Given the description of an element on the screen output the (x, y) to click on. 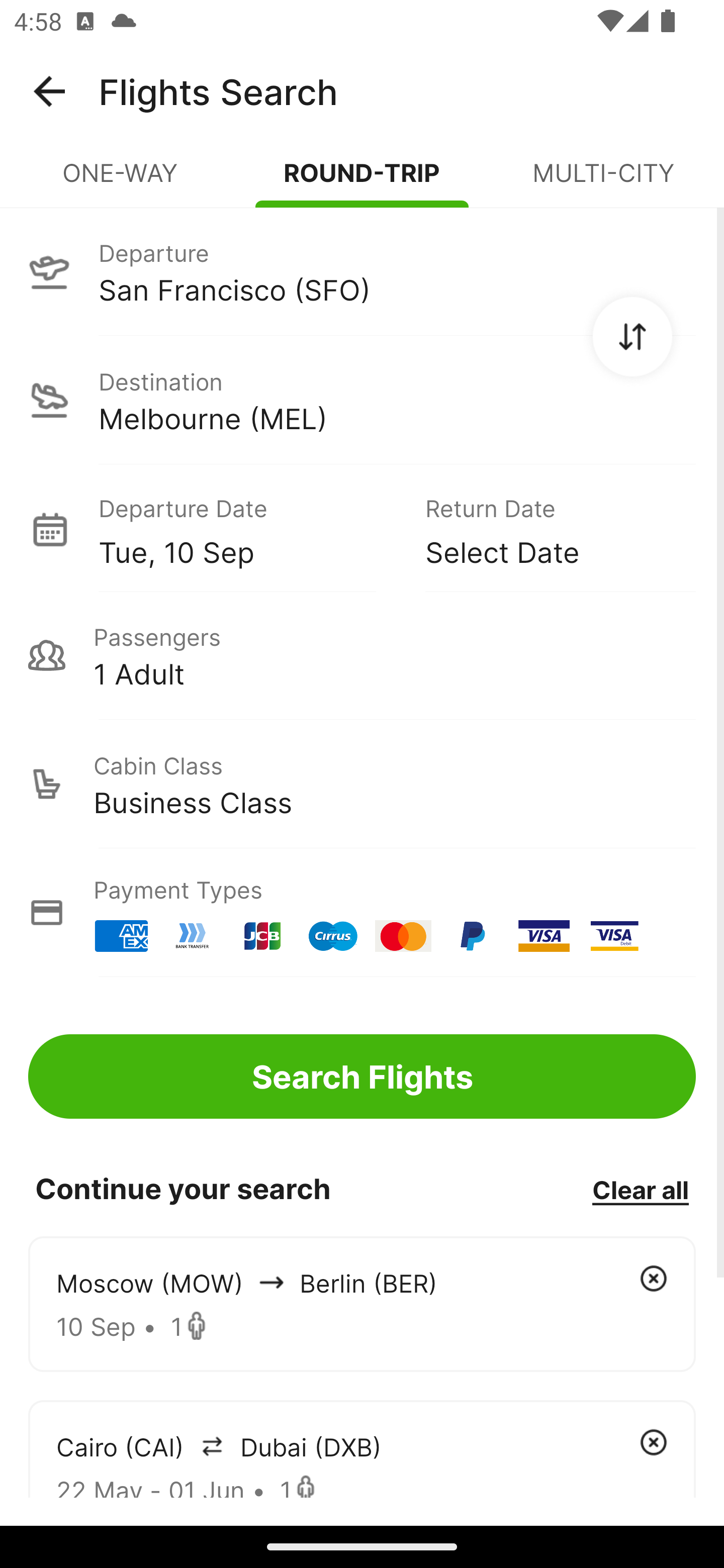
ONE-WAY (120, 180)
ROUND-TRIP (361, 180)
MULTI-CITY (603, 180)
Departure San Francisco (SFO) (362, 270)
Destination Melbourne (MEL) (362, 400)
Departure Date Tue, 10 Sep (247, 528)
Return Date Select Date (546, 528)
Passengers 1 Adult (362, 655)
Cabin Class Business Class (362, 783)
Payment Types (362, 912)
Search Flights (361, 1075)
Clear all (640, 1189)
Moscow (MOW)  arrowIcon  Berlin (BER) 10 Sep •  1  (361, 1303)
